Given the description of an element on the screen output the (x, y) to click on. 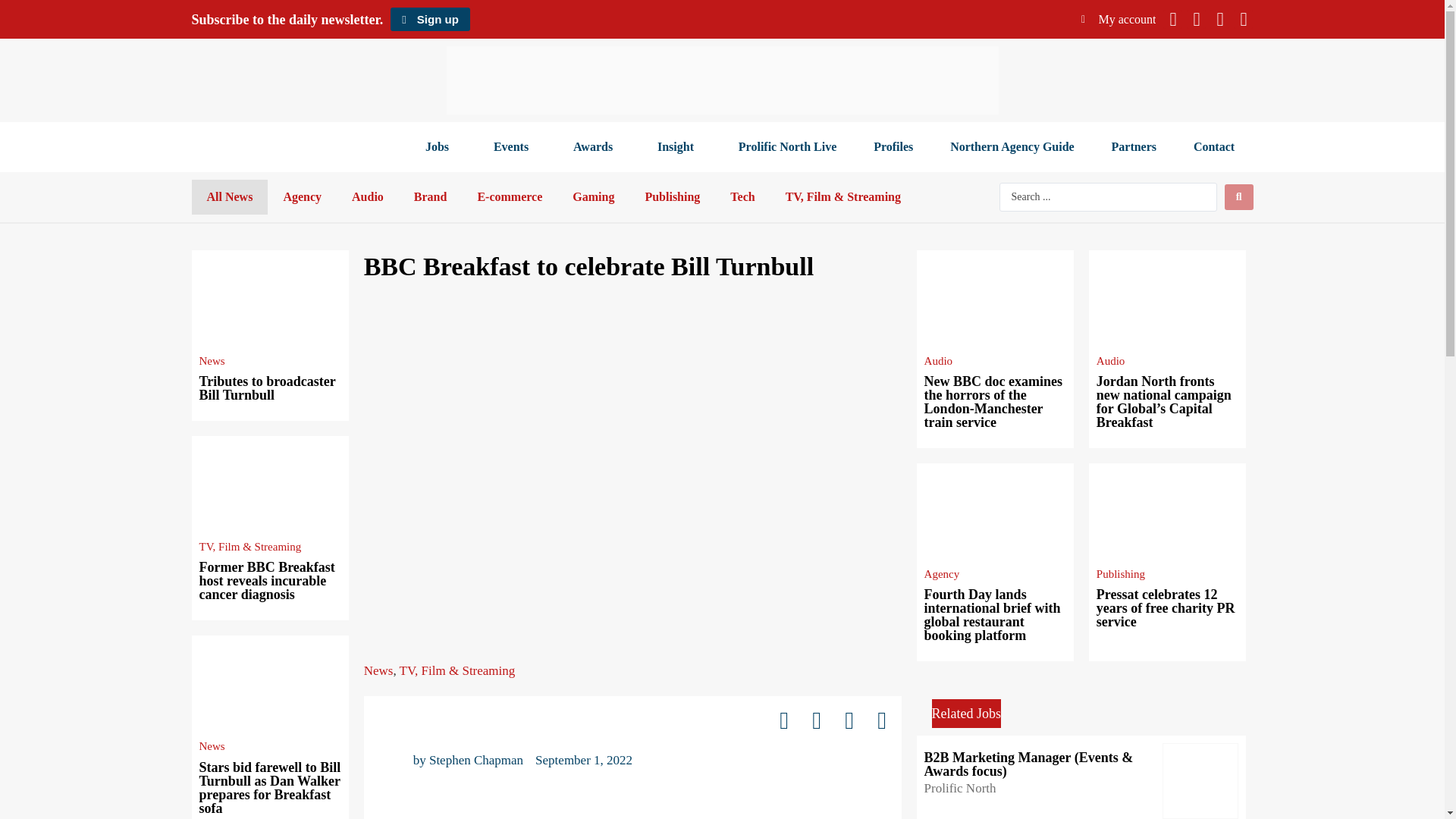
My account (1118, 19)
Awards (596, 146)
Events (514, 146)
Jobs (440, 146)
Sign up (429, 19)
